Given the description of an element on the screen output the (x, y) to click on. 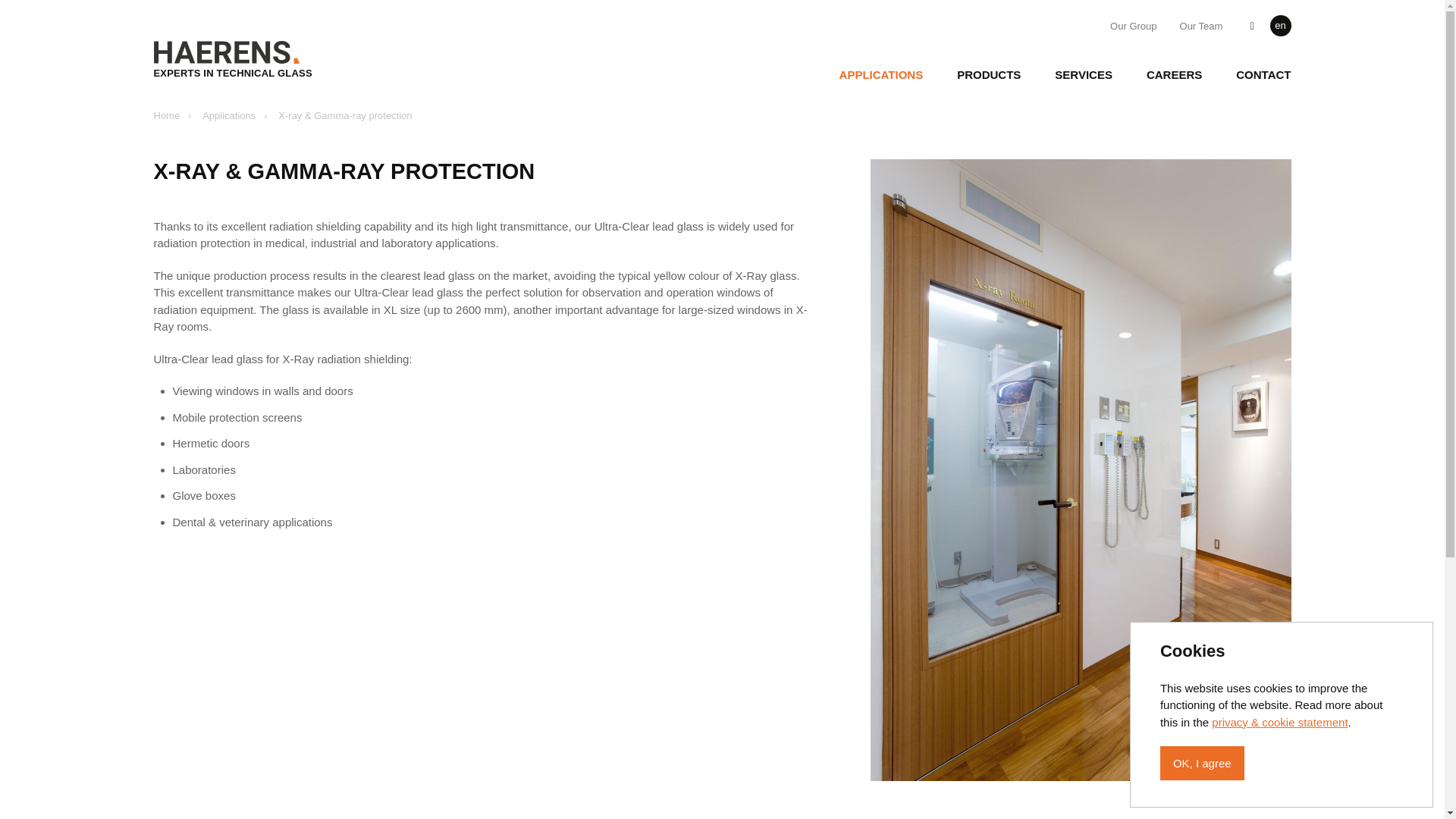
Services (1083, 74)
Products (988, 74)
Contact (1263, 74)
Careers (1174, 74)
home (165, 116)
Haerens (237, 59)
Our Group (1132, 25)
Our Team (1201, 25)
Home (165, 116)
Our Team (1201, 25)
Applications (881, 74)
CAREERS (1174, 74)
APPLICATIONS (881, 74)
SERVICES (1083, 74)
